Given the description of an element on the screen output the (x, y) to click on. 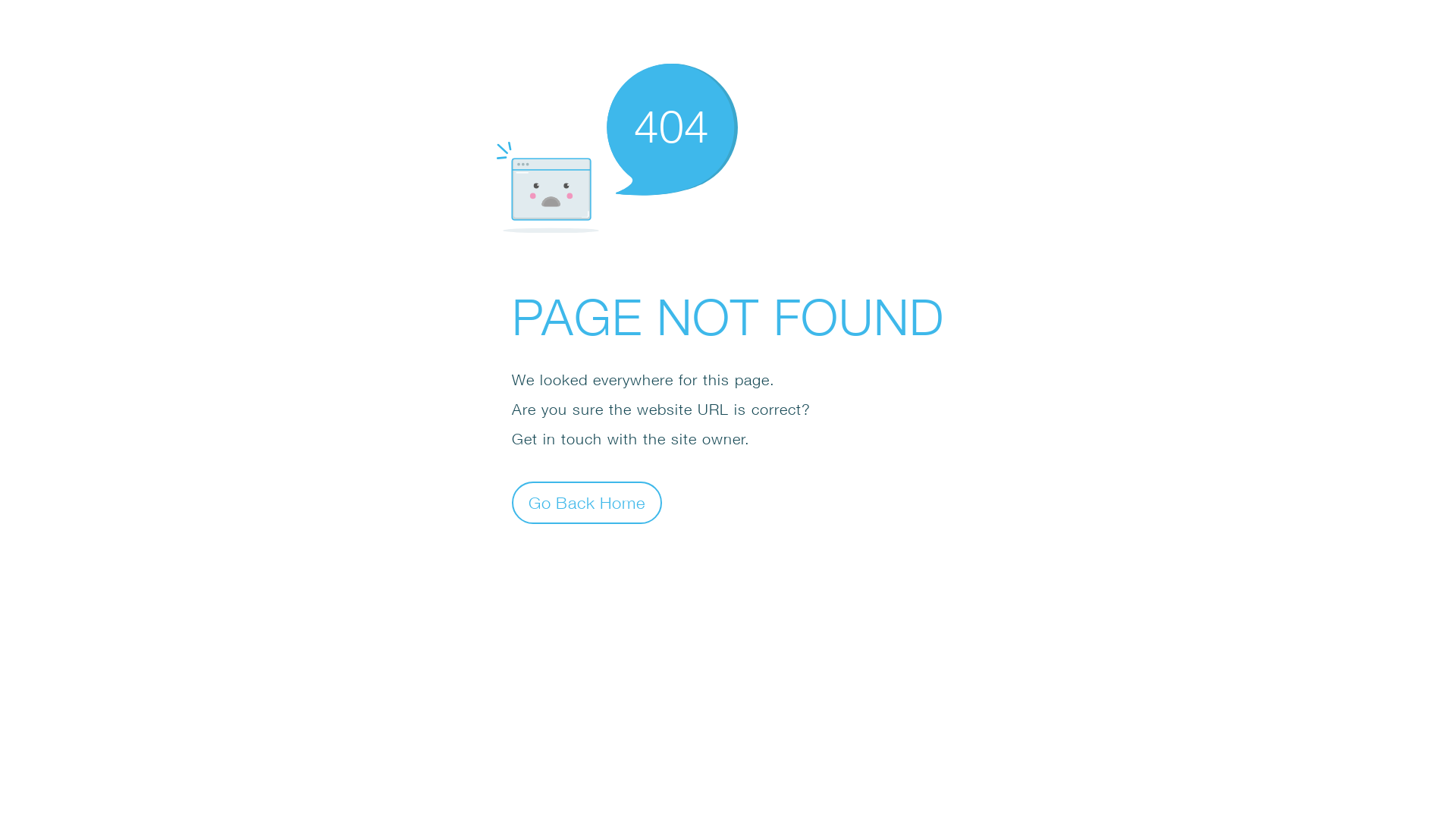
Go Back Home Element type: text (586, 502)
